Given the description of an element on the screen output the (x, y) to click on. 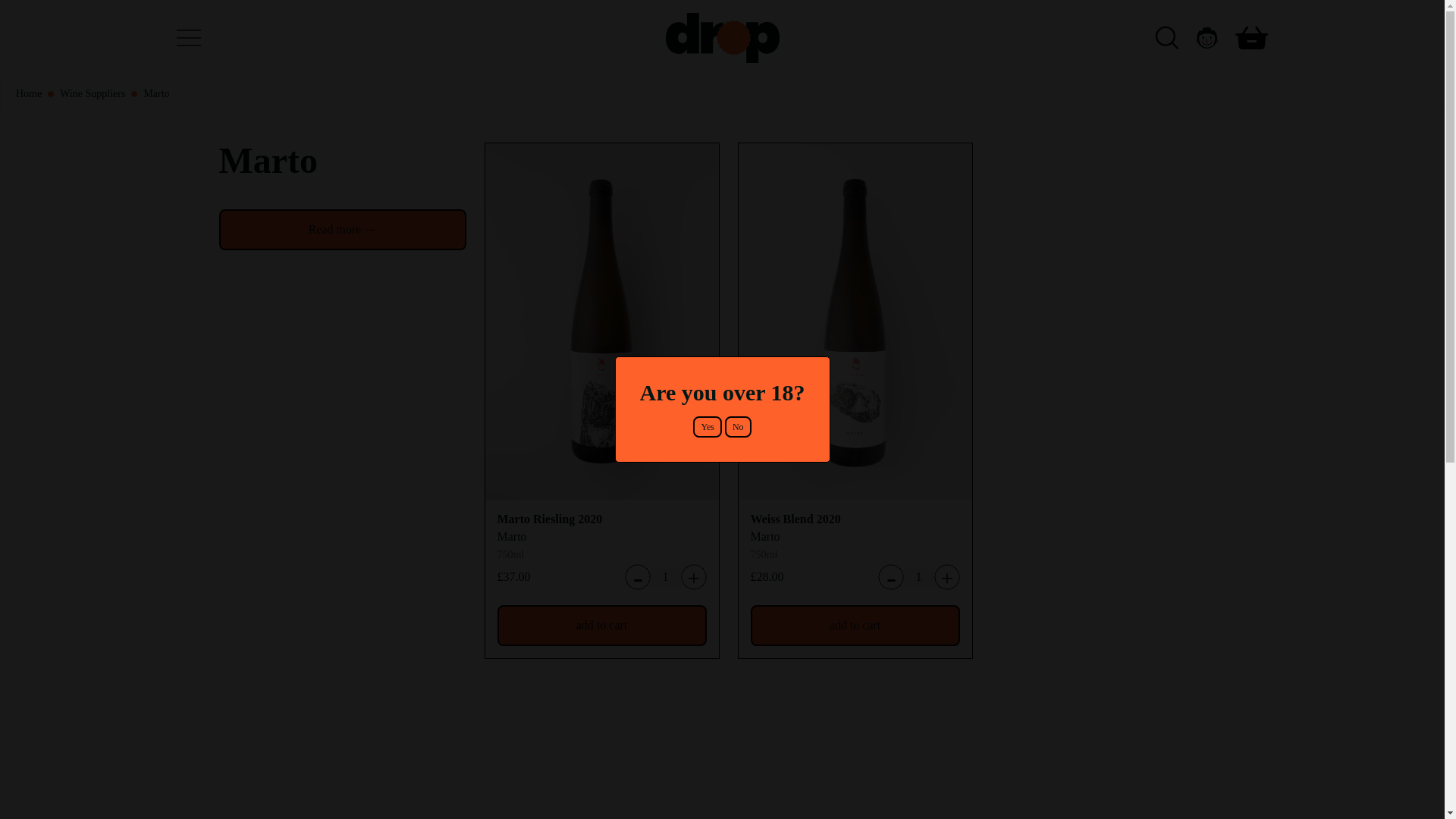
1 (919, 577)
1 (665, 577)
